Given the description of an element on the screen output the (x, y) to click on. 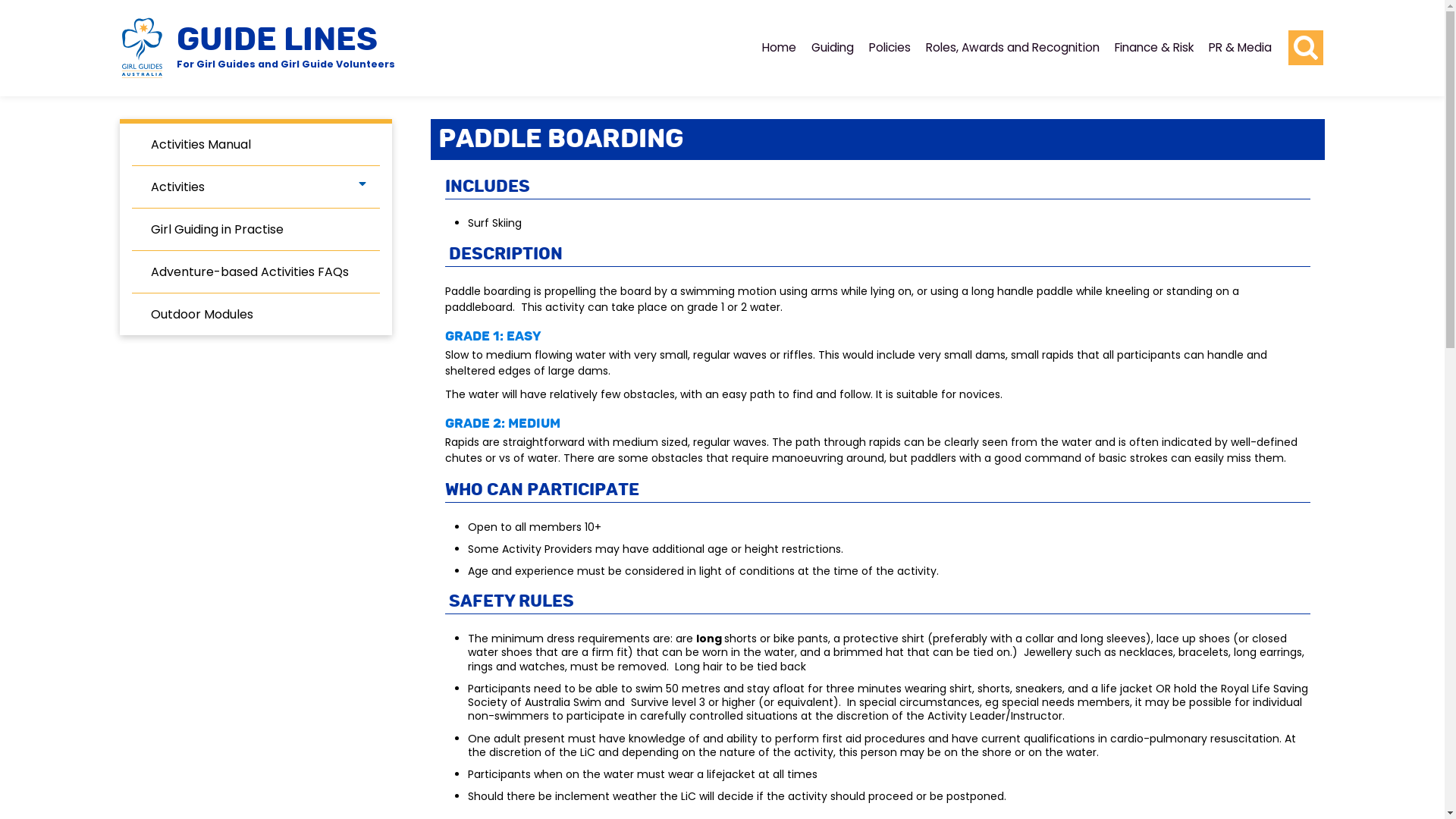
Finance & Risk Element type: text (1154, 47)
PR & Media Element type: text (1240, 47)
Guiding Element type: text (832, 47)
Home Element type: text (778, 47)
Roles, Awards and Recognition Element type: text (1012, 47)
Girl Guiding in Practise Element type: text (255, 229)
Outdoor Modules Element type: text (255, 314)
Policies Element type: text (889, 47)
GUIDE LINES
For Girl Guides and Girl Guide Volunteers Element type: text (307, 48)
Activities Manual Element type: text (255, 144)
Activities Element type: text (255, 187)
Adventure-based Activities FAQs Element type: text (255, 272)
